Given the description of an element on the screen output the (x, y) to click on. 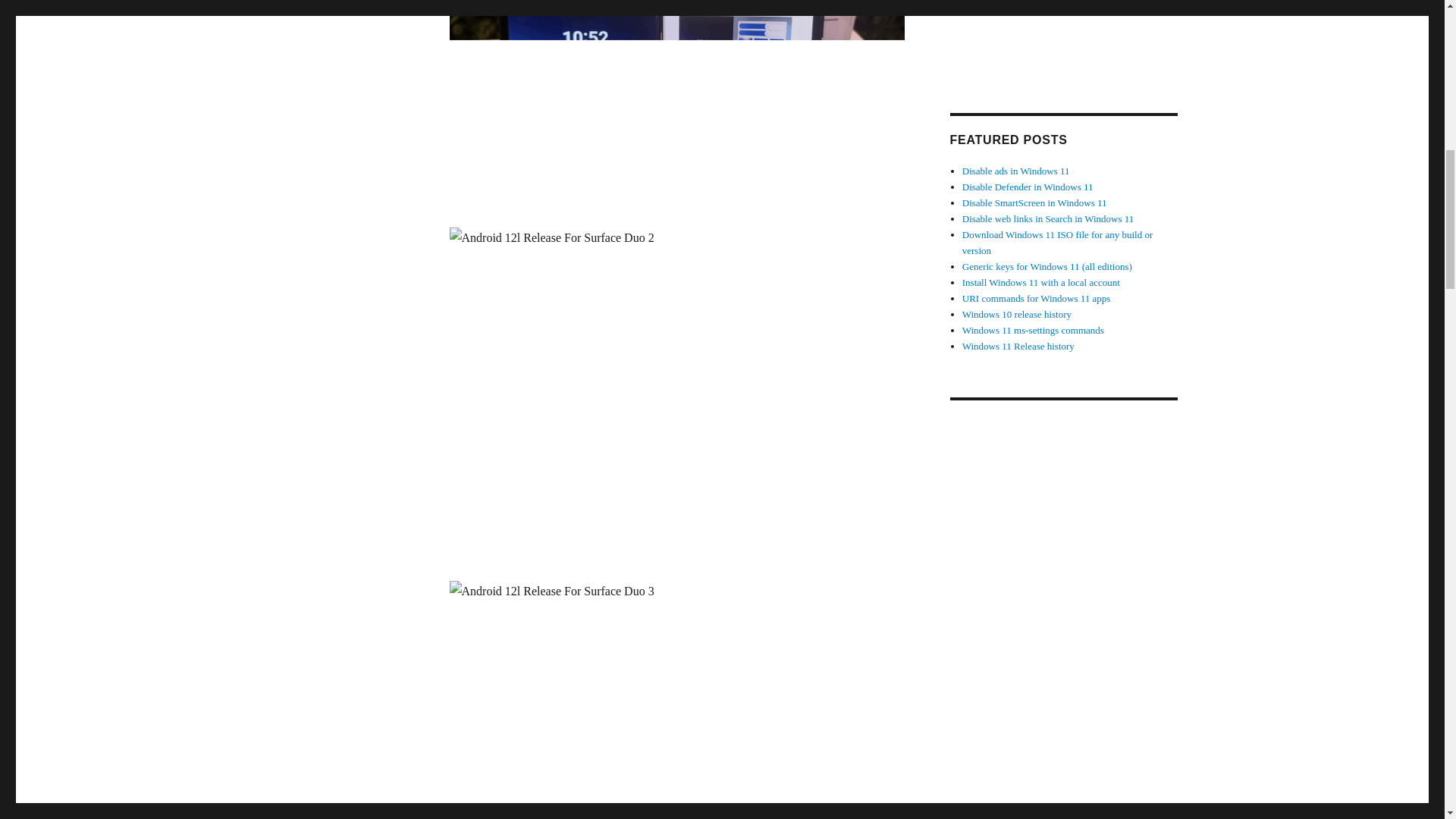
Disable ads in Windows 11 (1016, 170)
